Given the description of an element on the screen output the (x, y) to click on. 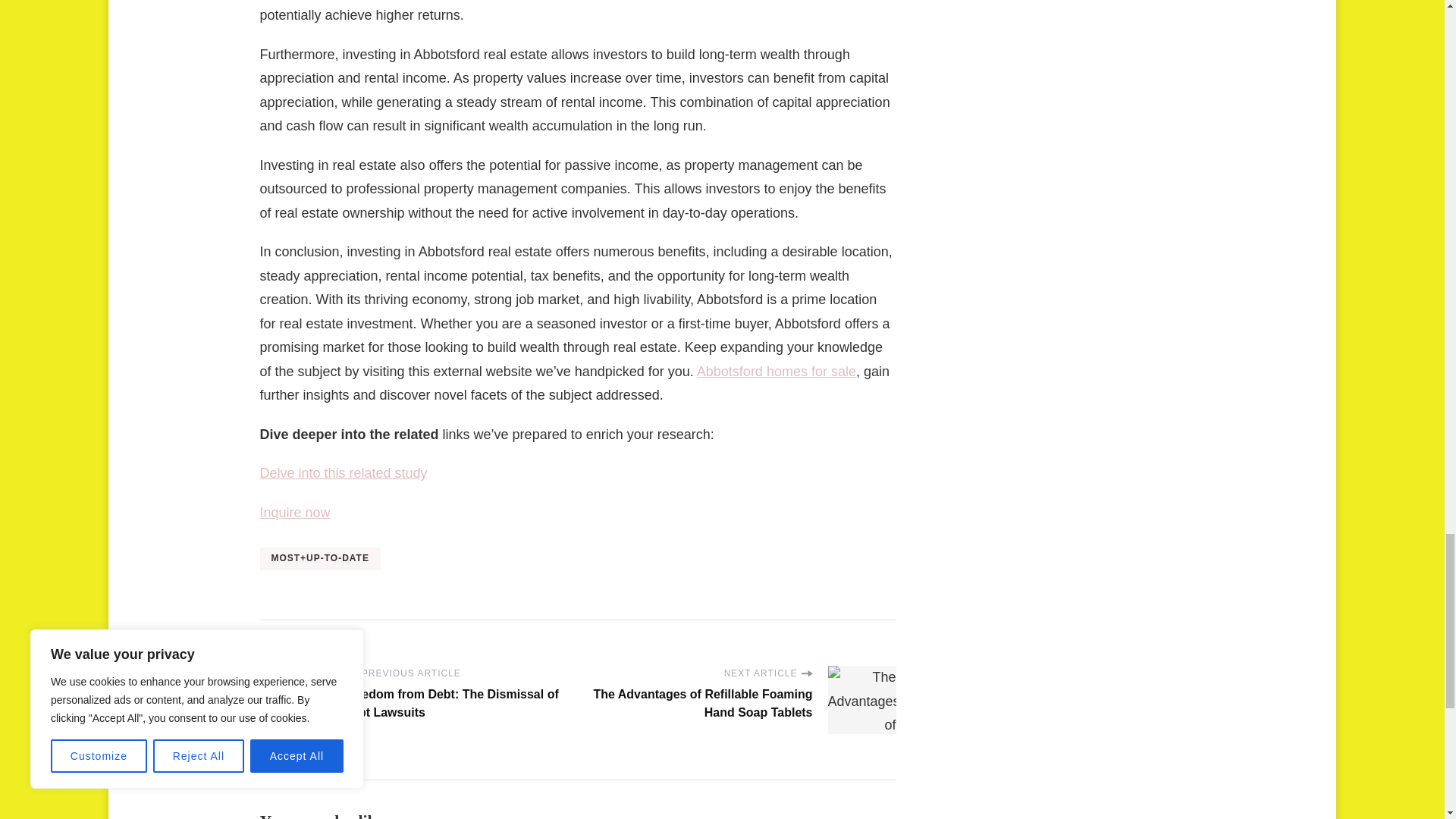
Abbotsford homes for sale (776, 371)
Inquire now (294, 512)
Delve into this related study (342, 473)
